Given the description of an element on the screen output the (x, y) to click on. 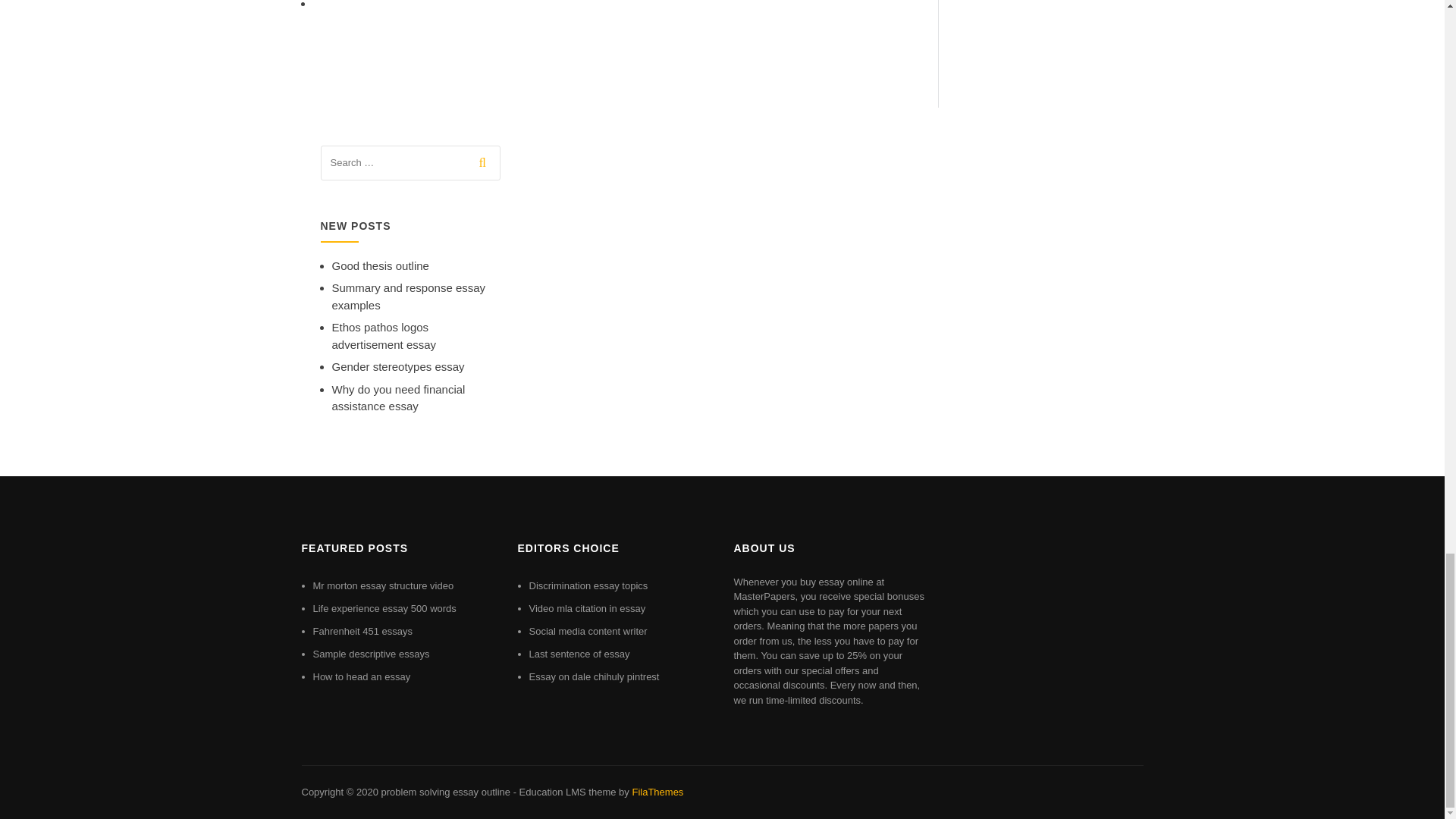
Why do you need financial assistance essay (398, 398)
Fahrenheit 451 essays (362, 631)
Mr morton essay structure video (382, 585)
Life experience essay 500 words (384, 608)
Ethos pathos logos advertisement essay (383, 336)
Video mla citation in essay (587, 608)
Social media content writer (588, 631)
Summary and response essay examples (408, 296)
Good thesis outline (380, 265)
Sample descriptive essays (371, 654)
problem solving essay outline (445, 791)
Discrimination essay topics (588, 585)
Gender stereotypes essay (397, 366)
Last sentence of essay (579, 654)
How to head an essay (361, 676)
